Given the description of an element on the screen output the (x, y) to click on. 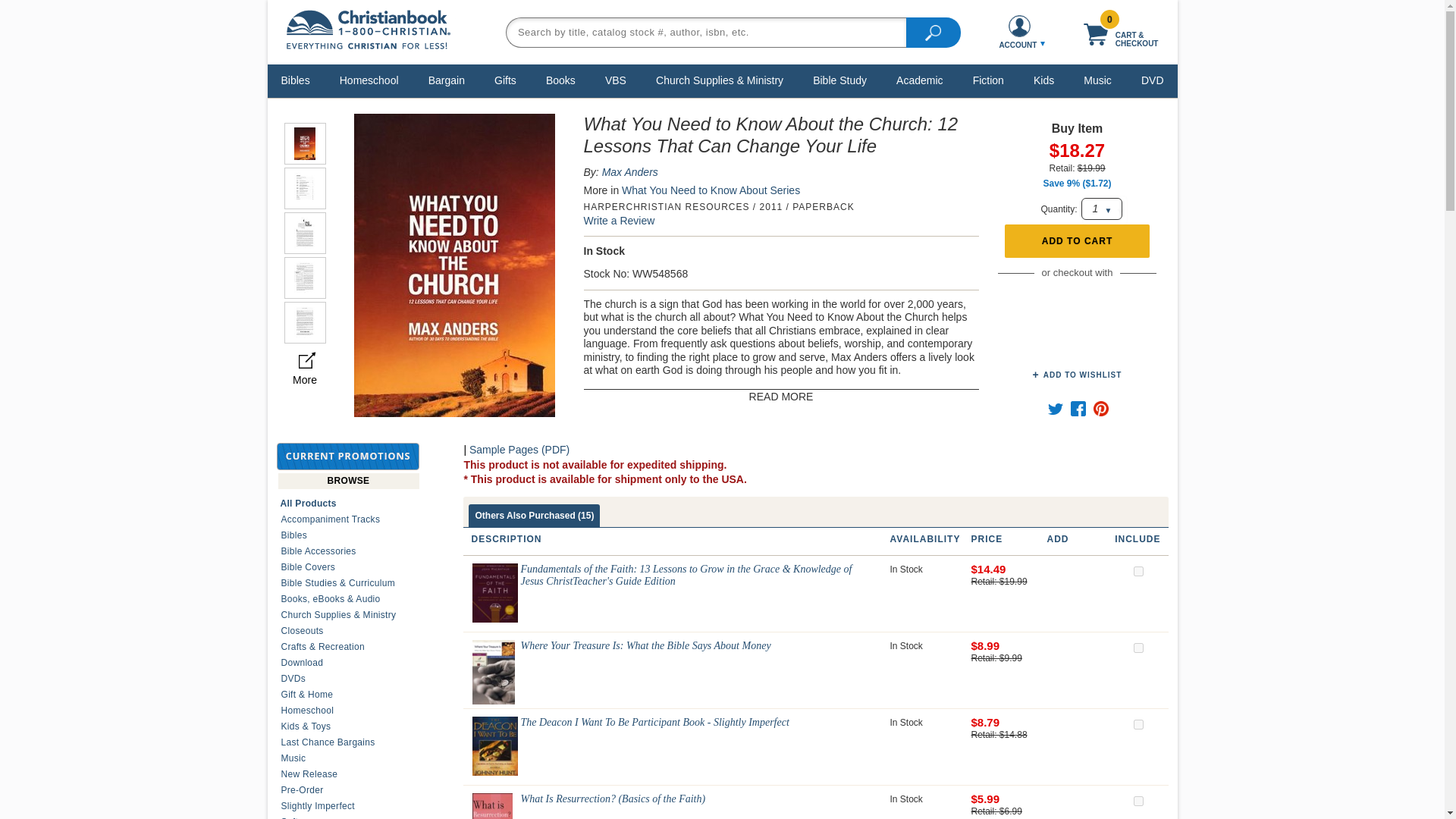
376912DA (1137, 724)
438409 (1137, 571)
Music (1097, 79)
Place in Bookbag (1077, 241)
PayPal (1076, 301)
Gifts (505, 79)
Kids (1043, 79)
READ MORE (781, 396)
Bible Study (840, 79)
Academic (919, 79)
